Given the description of an element on the screen output the (x, y) to click on. 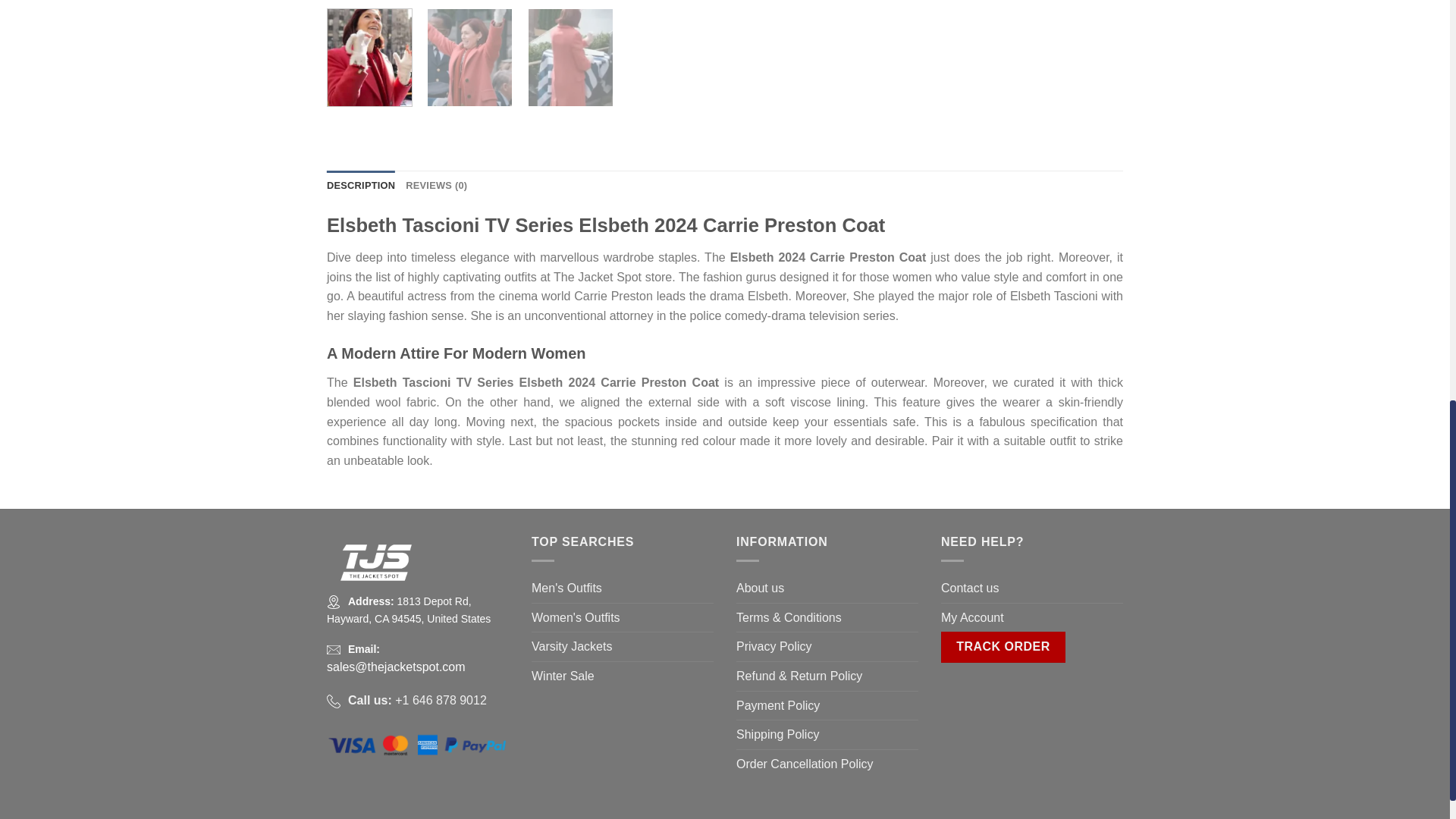
DESCRIPTION (360, 185)
